Given the description of an element on the screen output the (x, y) to click on. 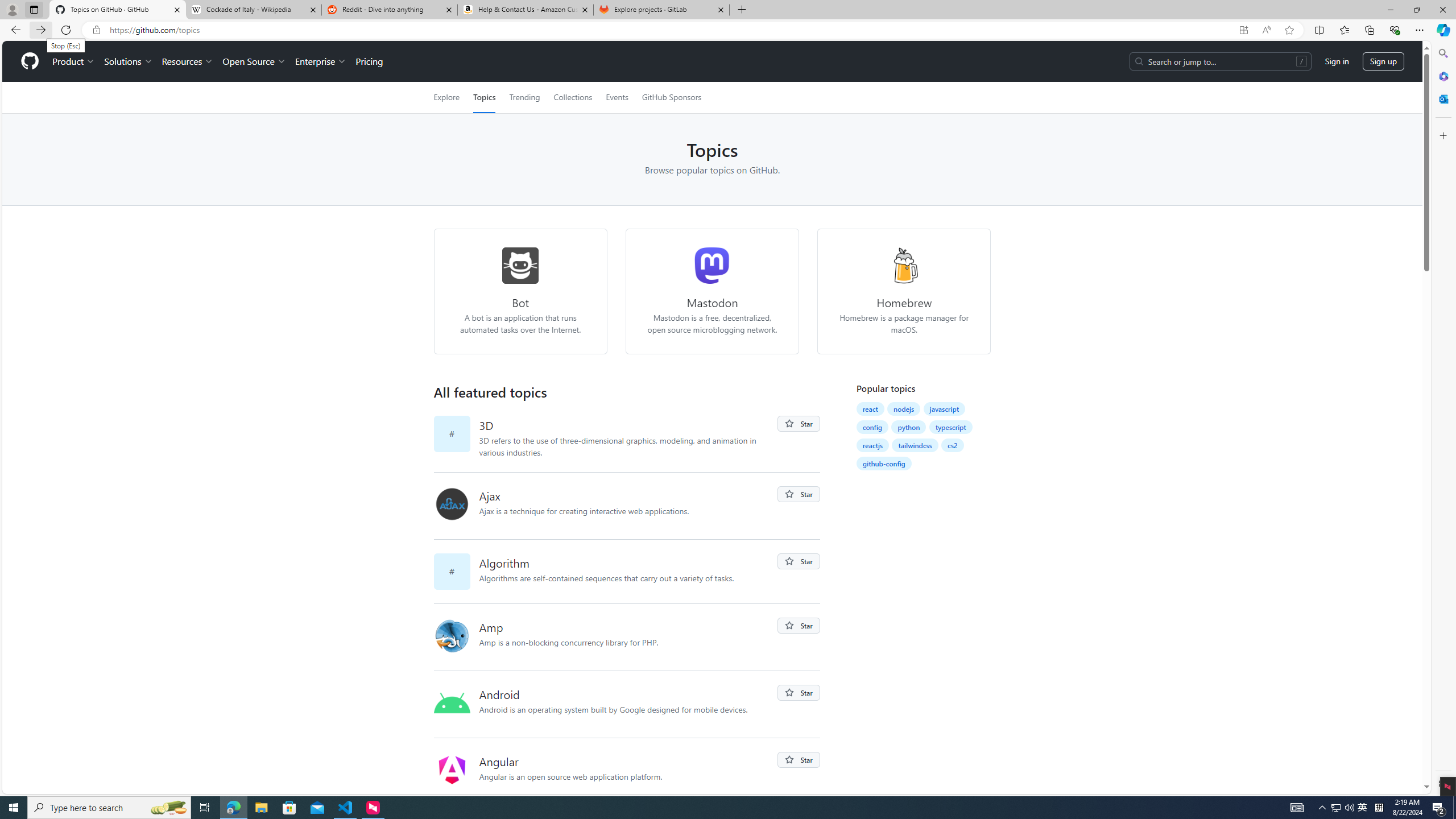
nodejs (903, 409)
config (872, 427)
Trending (524, 97)
Solutions (128, 60)
homebrew (904, 265)
Resources (187, 60)
Product (74, 60)
Cockade of Italy - Wikipedia (253, 9)
homebrew Homebrew Homebrew is a package manager for macOS. (903, 291)
Amp Amp is a non-blocking concurrency library for PHP. (628, 636)
Address and search bar (670, 29)
